Given the description of an element on the screen output the (x, y) to click on. 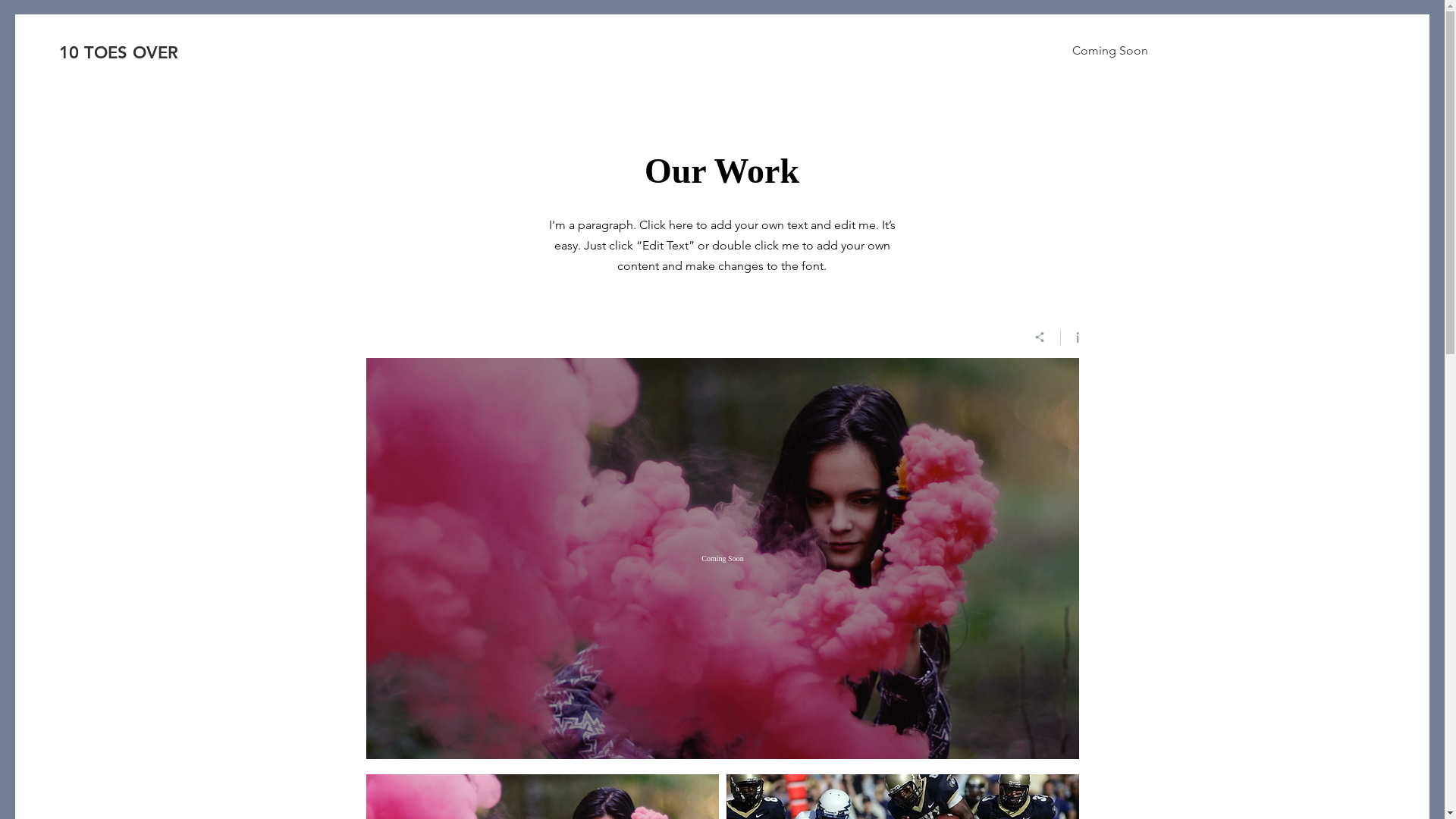
10 TOES OVER Element type: text (133, 52)
Coming Soon Element type: text (1109, 50)
